Given the description of an element on the screen output the (x, y) to click on. 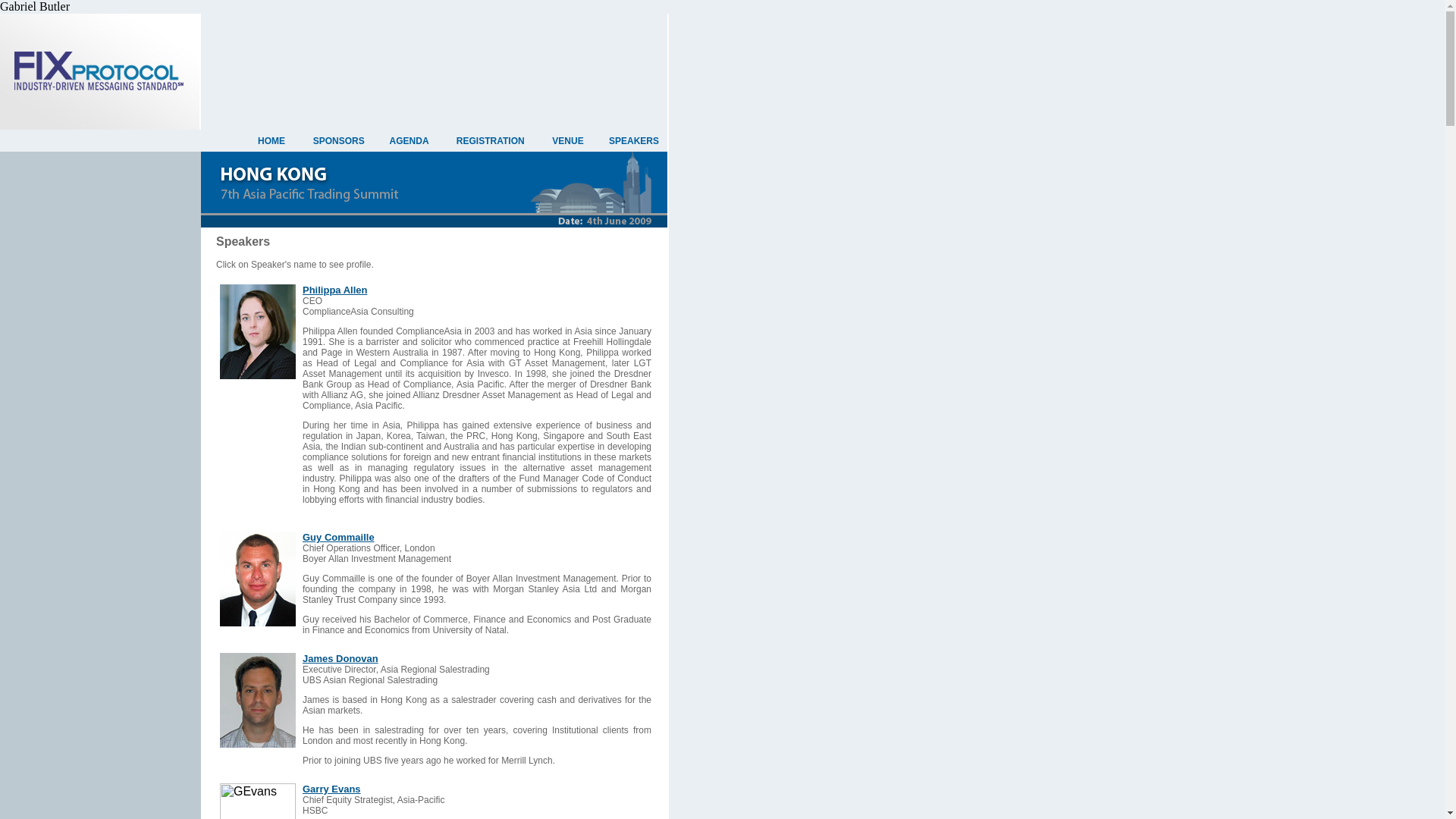
SPEAKERS (633, 140)
VENUE (567, 140)
HOME (271, 140)
SPONSORS (339, 140)
Philippa Allen (334, 289)
AGENDA (409, 140)
James Donovan (340, 658)
Garry Evans (331, 788)
Guy Commaille (338, 536)
REGISTRATION (490, 140)
